Given the description of an element on the screen output the (x, y) to click on. 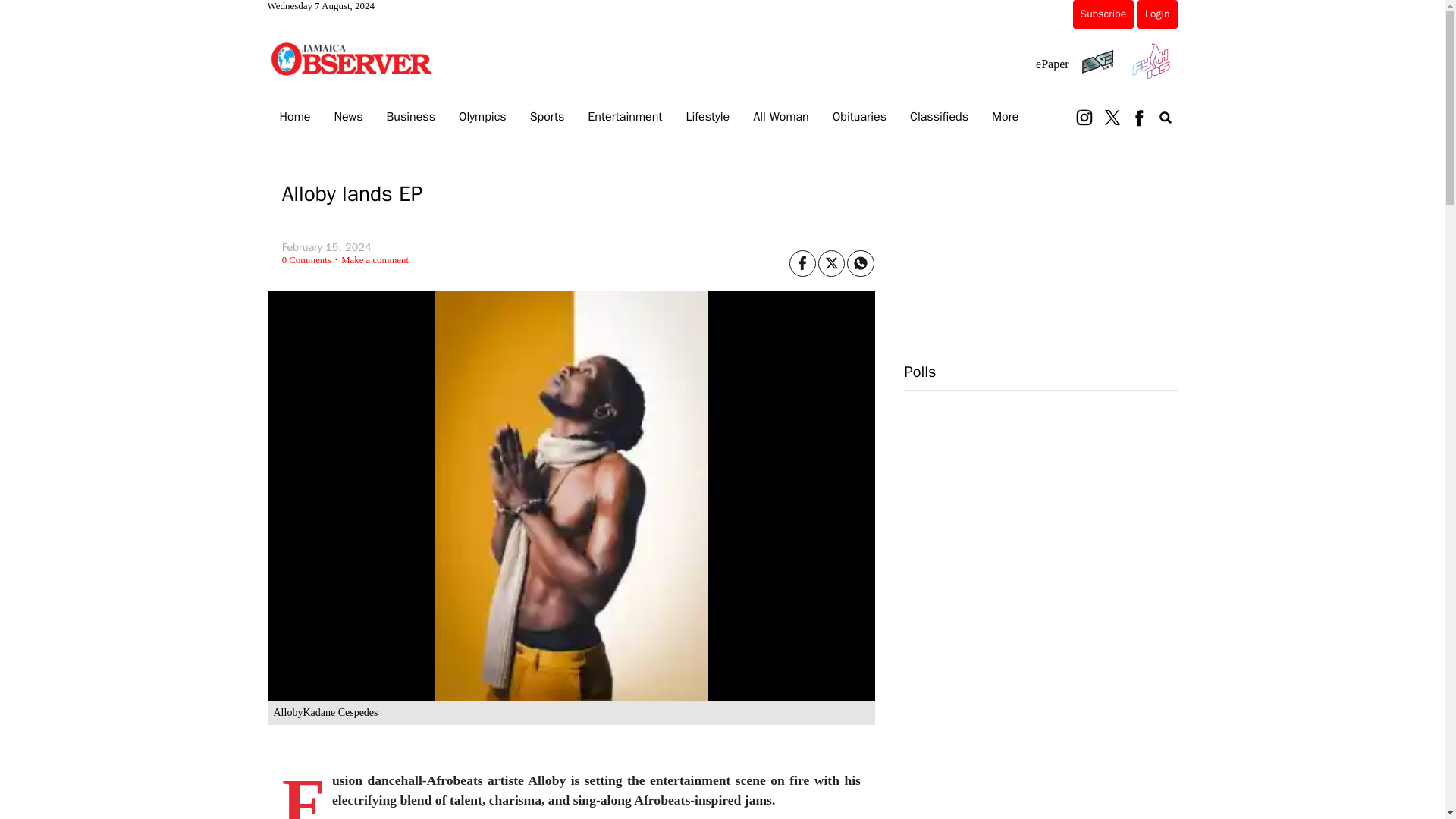
Subscribe (1103, 14)
ePaper (1051, 64)
Login (1156, 14)
